Given the description of an element on the screen output the (x, y) to click on. 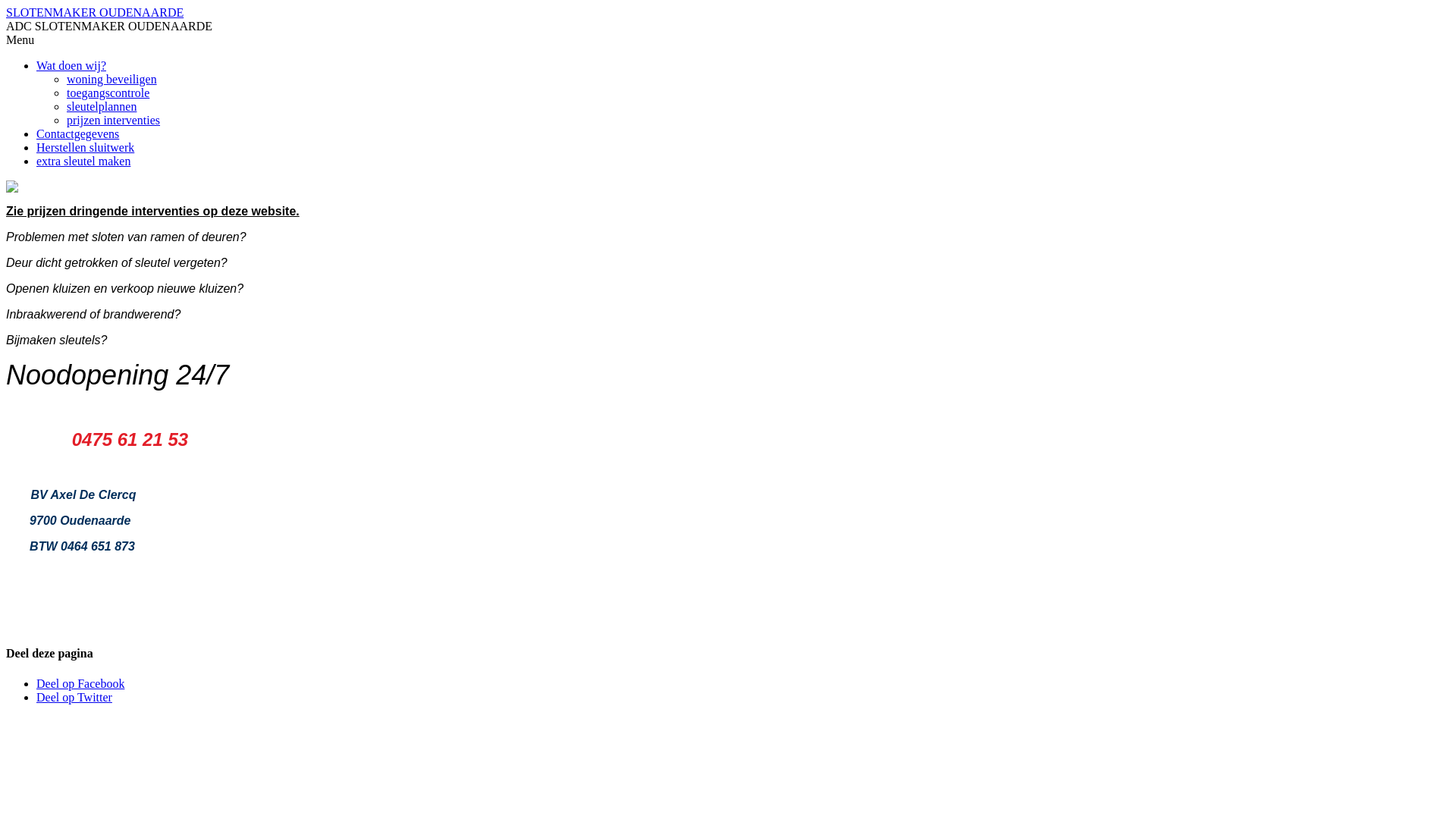
toegangscontrole Element type: text (107, 92)
prijzen interventies Element type: text (113, 119)
Deel op Facebook Element type: text (80, 683)
extra sleutel maken Element type: text (83, 160)
sleutelplannen Element type: text (101, 106)
Wat doen wij? Element type: text (71, 65)
Herstellen sluitwerk Element type: text (85, 147)
SLOTENMAKER OUDENAARDE Element type: text (94, 12)
Contactgegevens Element type: text (77, 133)
woning beveiligen Element type: text (111, 78)
Menu Element type: text (20, 39)
Deel op Twitter Element type: text (74, 696)
